Given the description of an element on the screen output the (x, y) to click on. 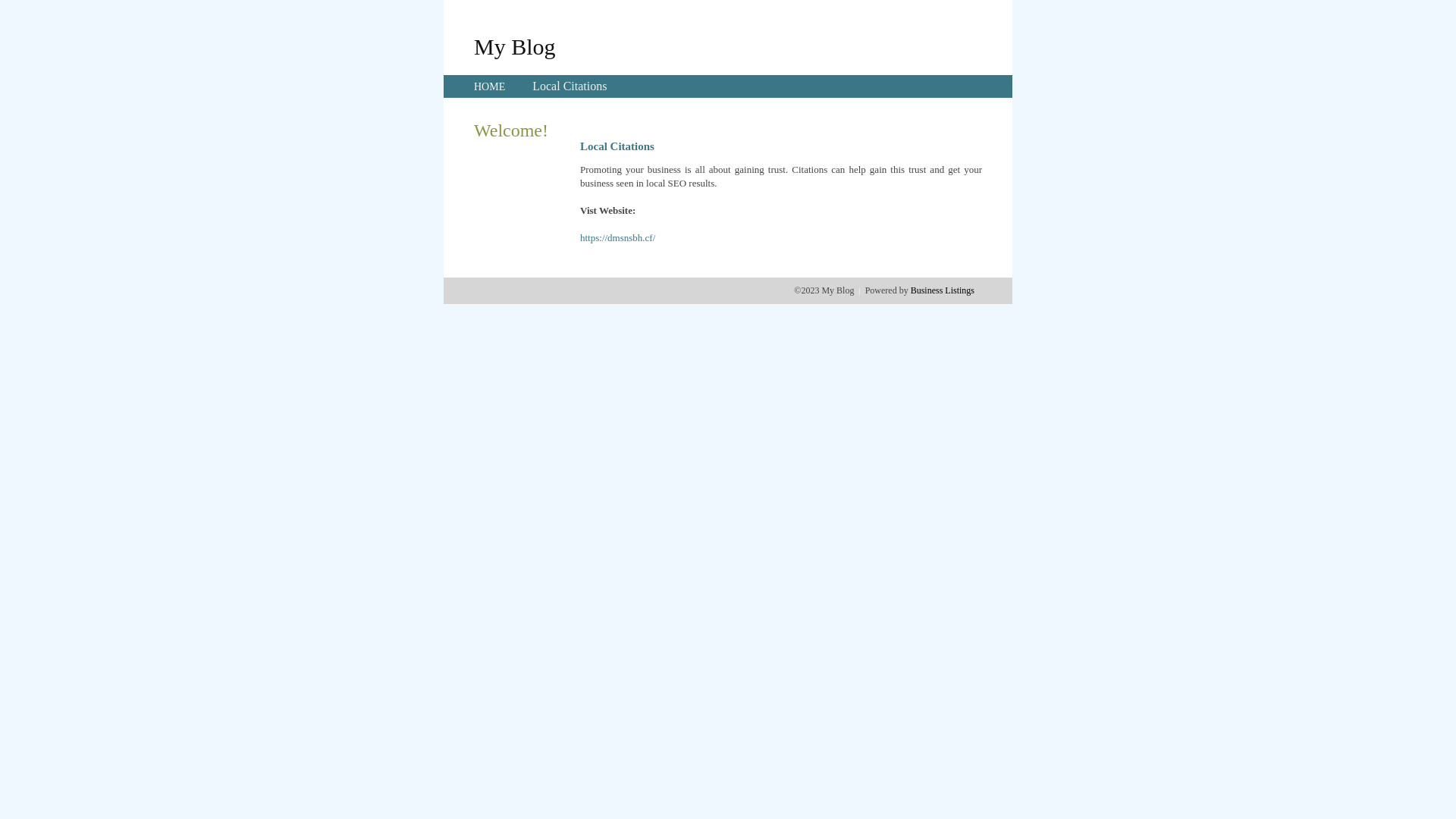
Business Listings Element type: text (942, 290)
https://dmsnsbh.cf/ Element type: text (617, 237)
HOME Element type: text (489, 86)
Local Citations Element type: text (569, 85)
My Blog Element type: text (514, 46)
